Given the description of an element on the screen output the (x, y) to click on. 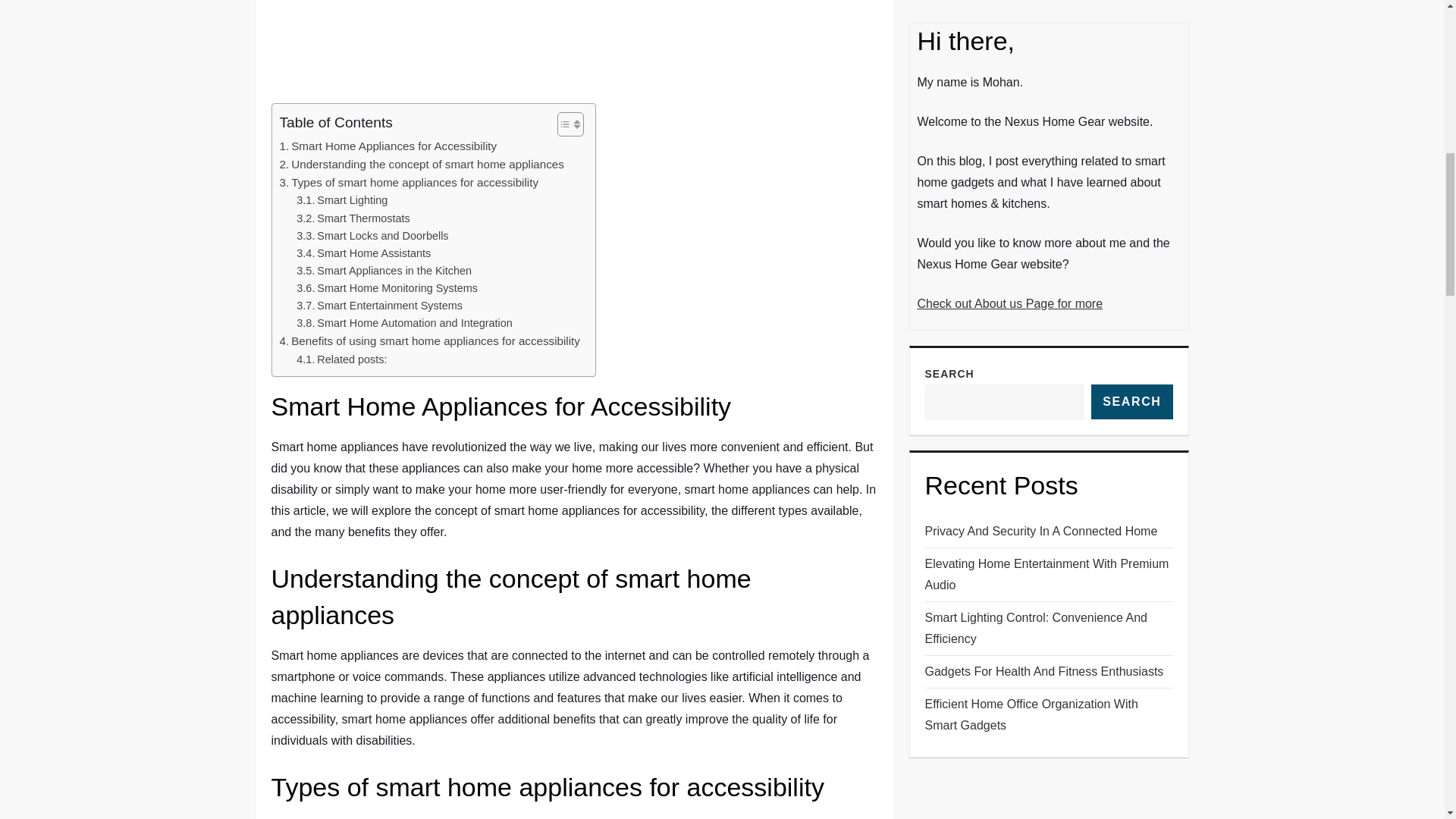
Smart Thermostats (353, 218)
Types of smart home appliances for accessibility (408, 182)
Understanding the concept of smart home appliances (421, 164)
Benefits of using smart home appliances for accessibility (429, 341)
Smart Appliances in the Kitchen (384, 271)
Smart Thermostats (353, 218)
Smart Entertainment Systems (380, 305)
Smart Locks and Doorbells (372, 235)
Smart Entertainment Systems (380, 305)
Smart Home Monitoring Systems (387, 288)
